Given the description of an element on the screen output the (x, y) to click on. 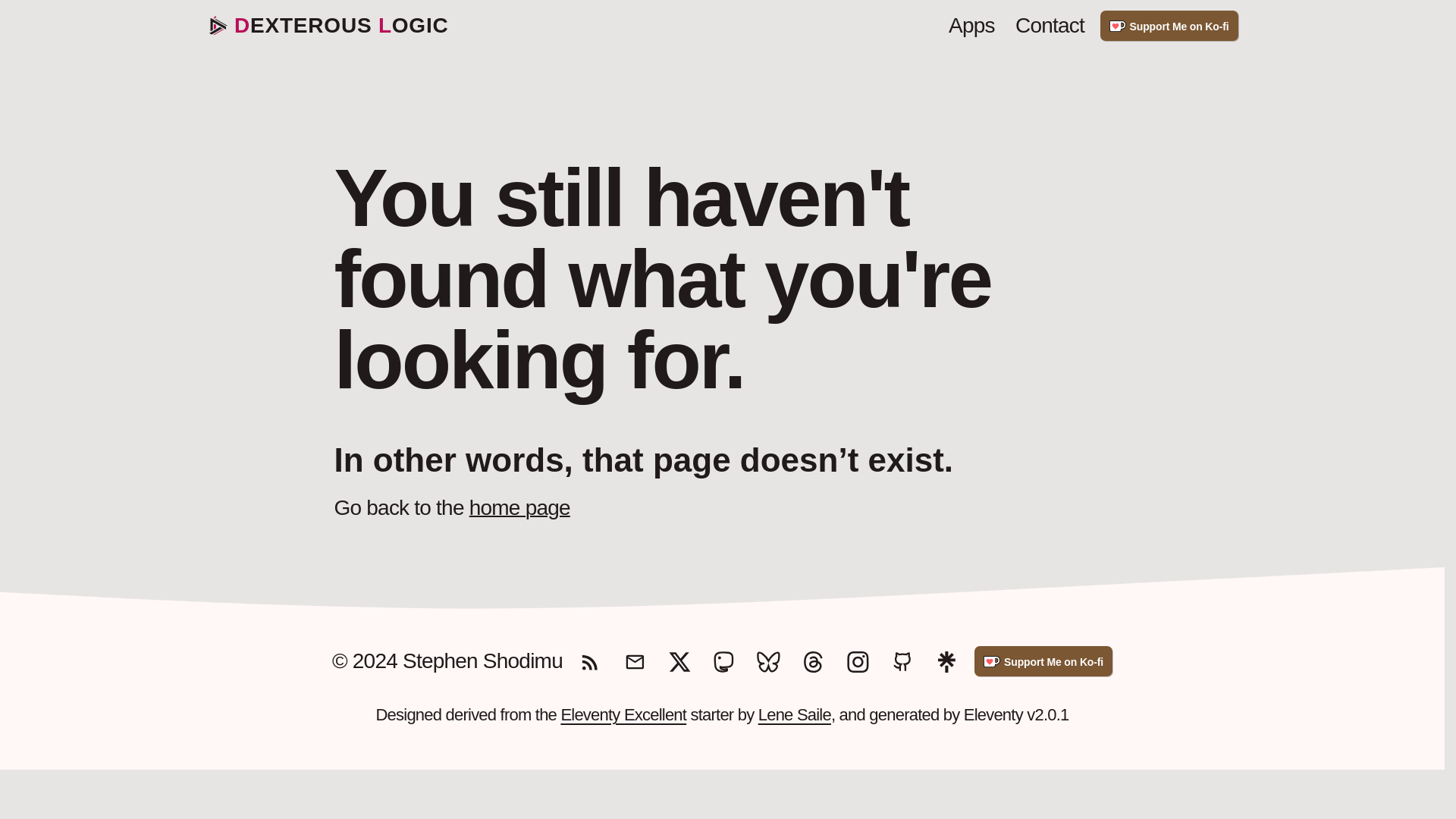
GitHub (902, 661)
Threads (813, 661)
Contact (1049, 25)
DEXTEROUS LOGIC (327, 25)
Support me on ko-fi.com (1043, 661)
Instagram (857, 661)
Support me on ko-fi.com (1169, 25)
Eleventy Excellent (622, 714)
Linktree (946, 661)
Lene Saile (794, 714)
